Given the description of an element on the screen output the (x, y) to click on. 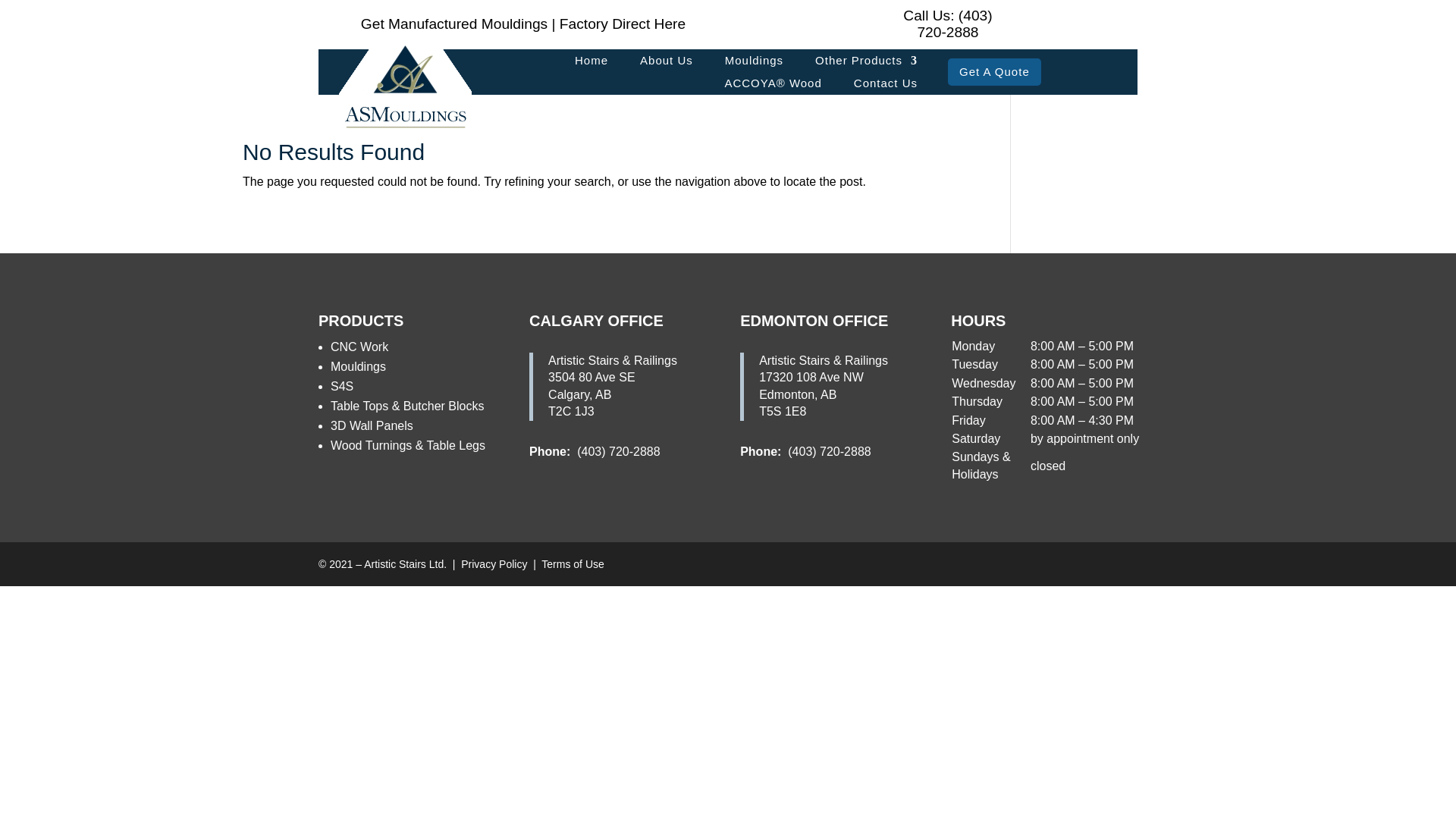
Other Products (866, 63)
3D Wall Panels (371, 425)
Contact Us (885, 86)
Mouldings (754, 63)
Home (591, 63)
CNC Work (359, 346)
About Us (666, 63)
Get A Quote (994, 71)
S4S (341, 386)
Mouldings (357, 366)
